Given the description of an element on the screen output the (x, y) to click on. 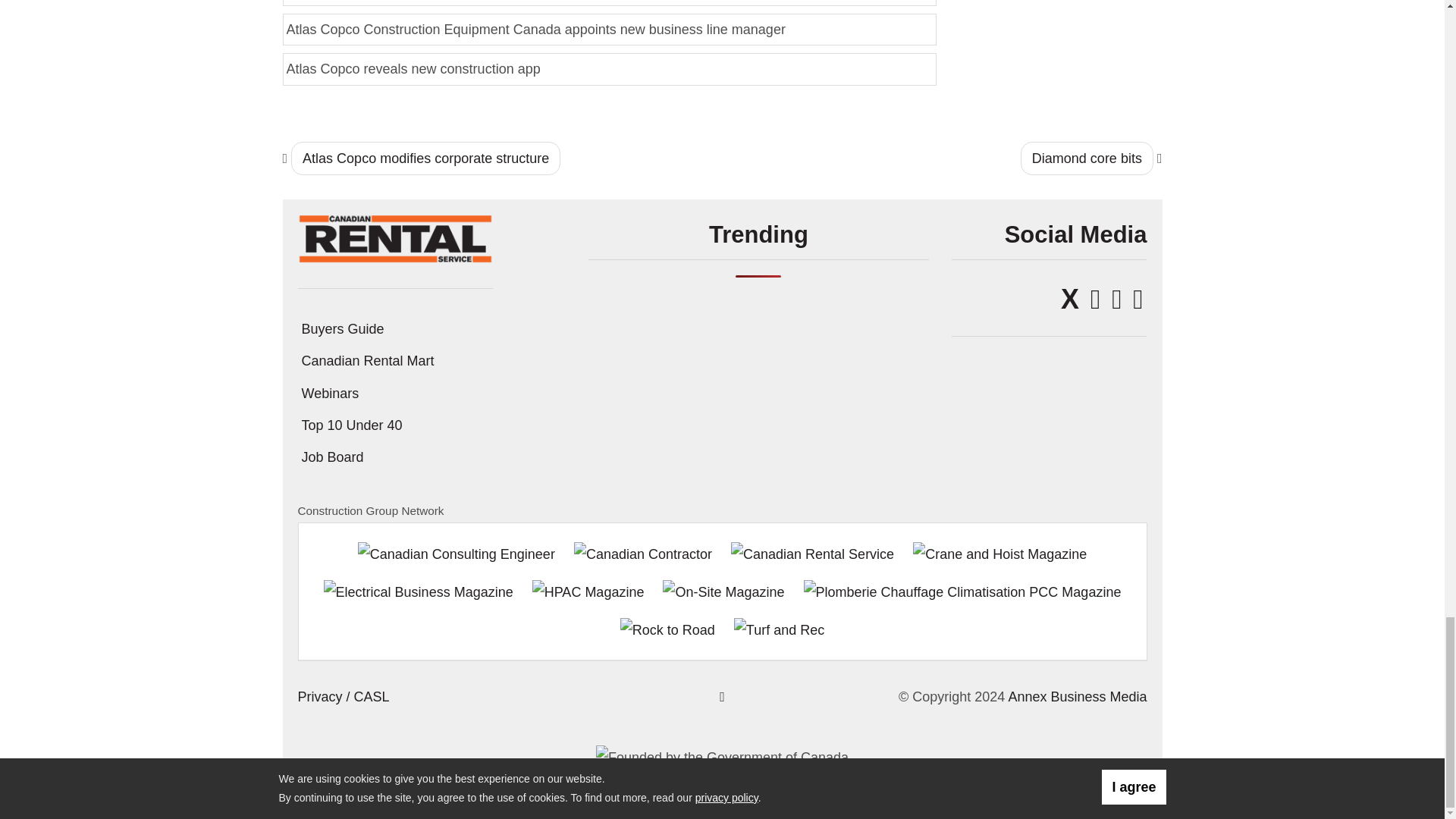
Canadian Rental Service (395, 237)
Annex Business Media (1077, 696)
